Given the description of an element on the screen output the (x, y) to click on. 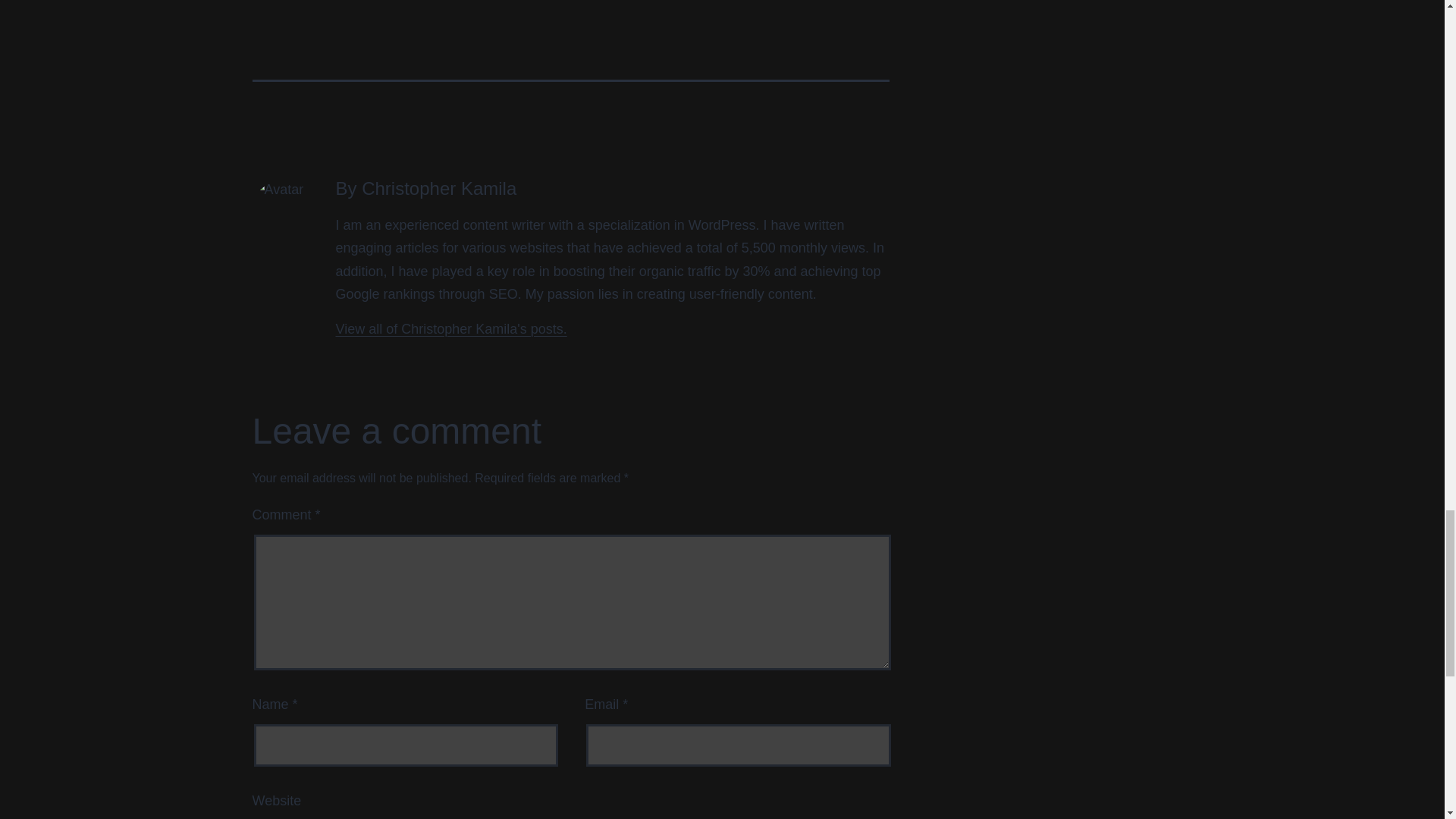
View all of Christopher Kamila's posts. (450, 328)
